Given the description of an element on the screen output the (x, y) to click on. 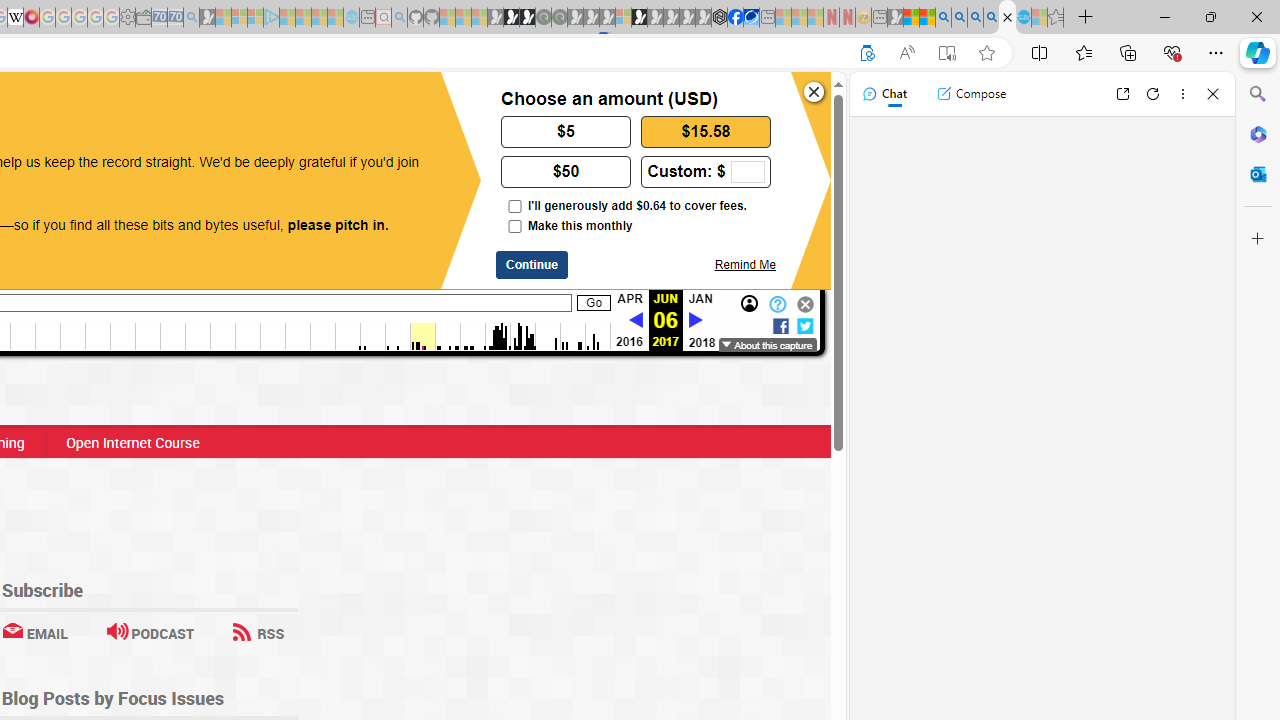
Expand the search (258, 101)
APR (629, 299)
Nordace - Cooler Bags (719, 17)
Nordace | Facebook (735, 17)
EMAIL (34, 632)
DONATE (178, 108)
